Given the description of an element on the screen output the (x, y) to click on. 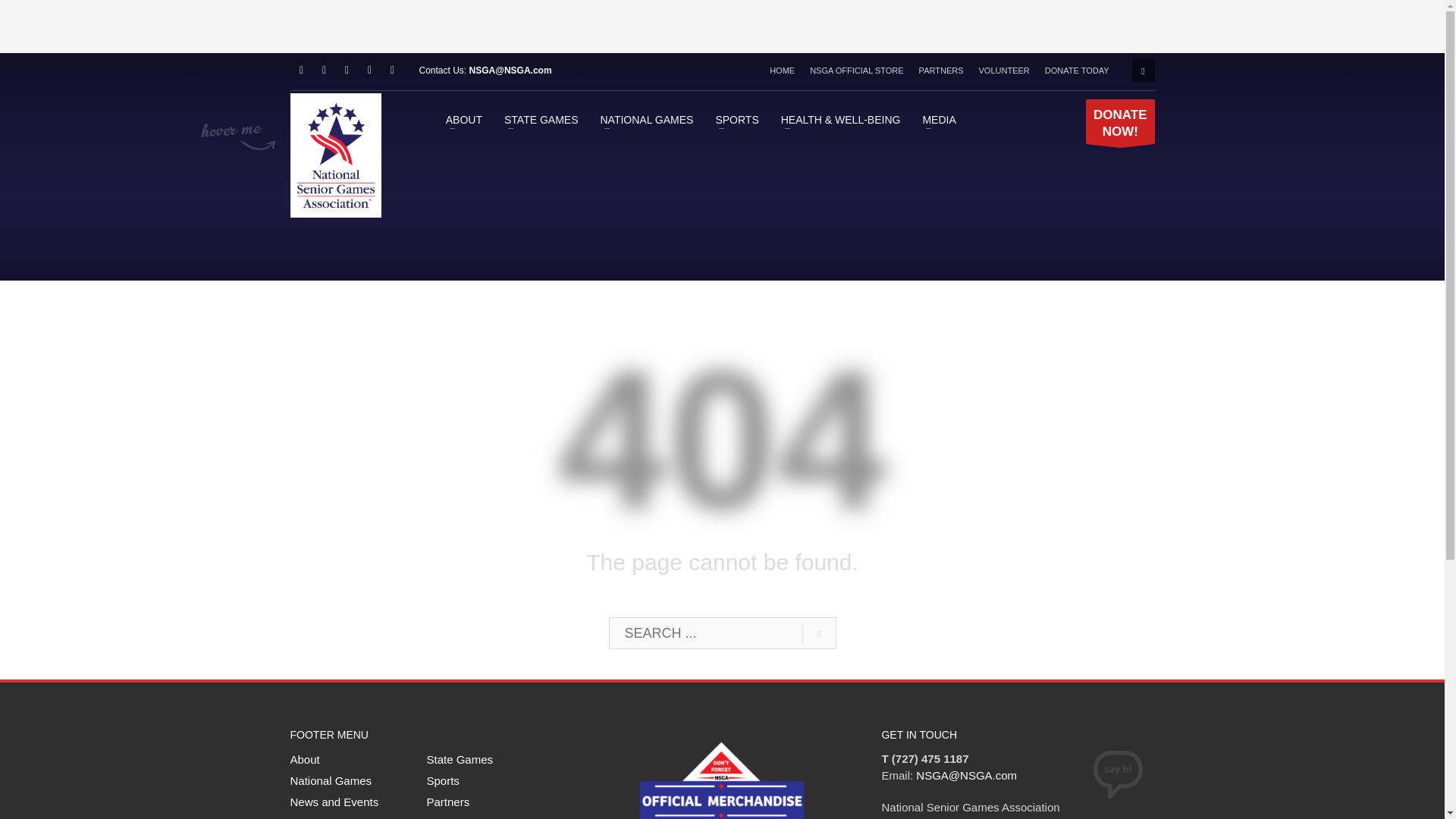
Facebook (301, 69)
ABOUT (464, 118)
VOLUNTEER (1003, 70)
Linked In (391, 69)
YouTube (346, 69)
NSGA OFFICIAL STORE (855, 70)
DONATE TODAY (1077, 70)
Donate Now (1120, 120)
HOME (782, 70)
STATE GAMES (541, 118)
Twitter (323, 69)
PARTNERS (940, 70)
Instagram (369, 69)
